Given the description of an element on the screen output the (x, y) to click on. 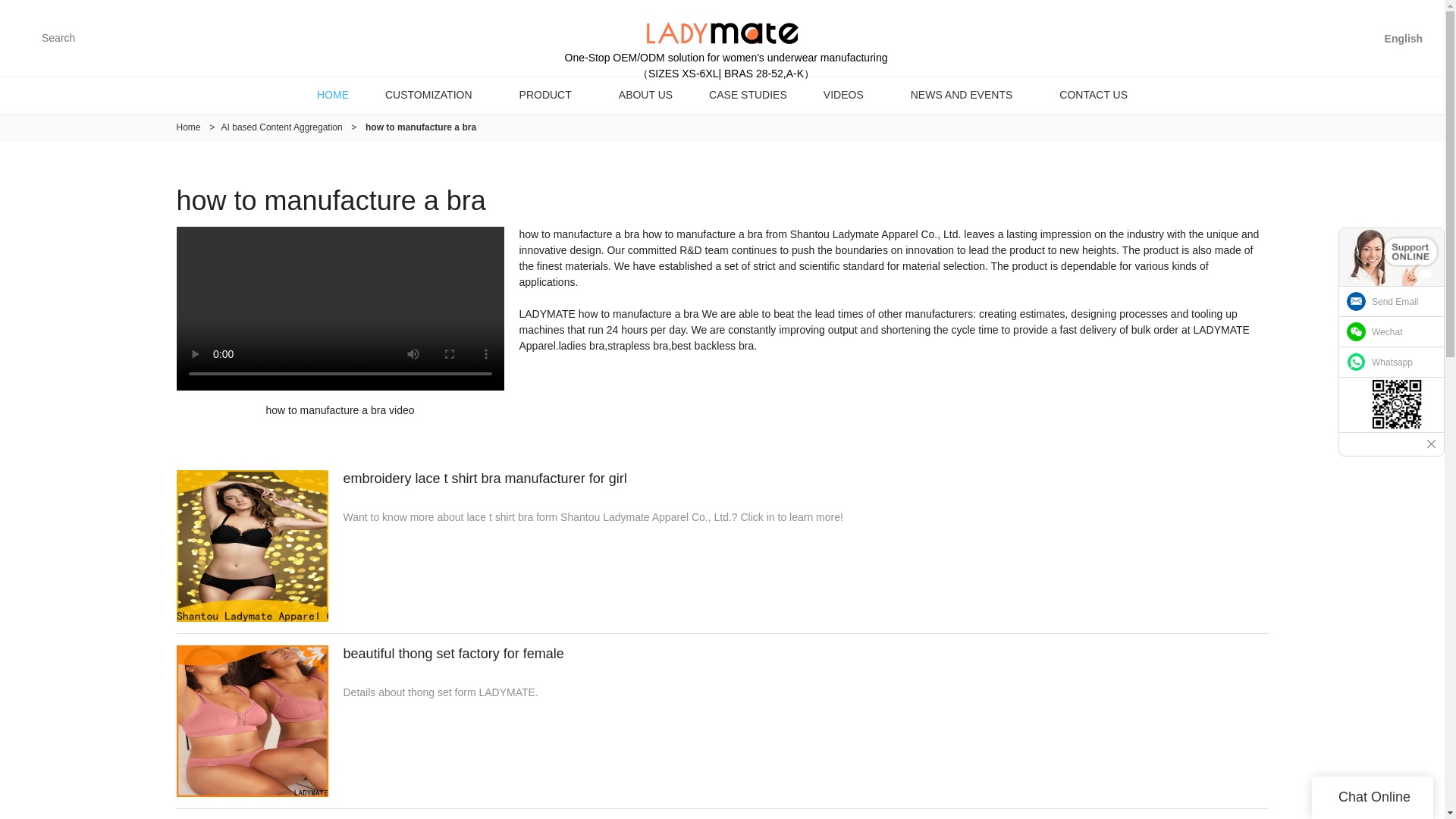
Whatsapp (1391, 362)
Send Email (1391, 301)
HOME (332, 94)
PRODUCT (549, 94)
CUSTOMIZATION (433, 94)
Wechat (1391, 331)
